Given the description of an element on the screen output the (x, y) to click on. 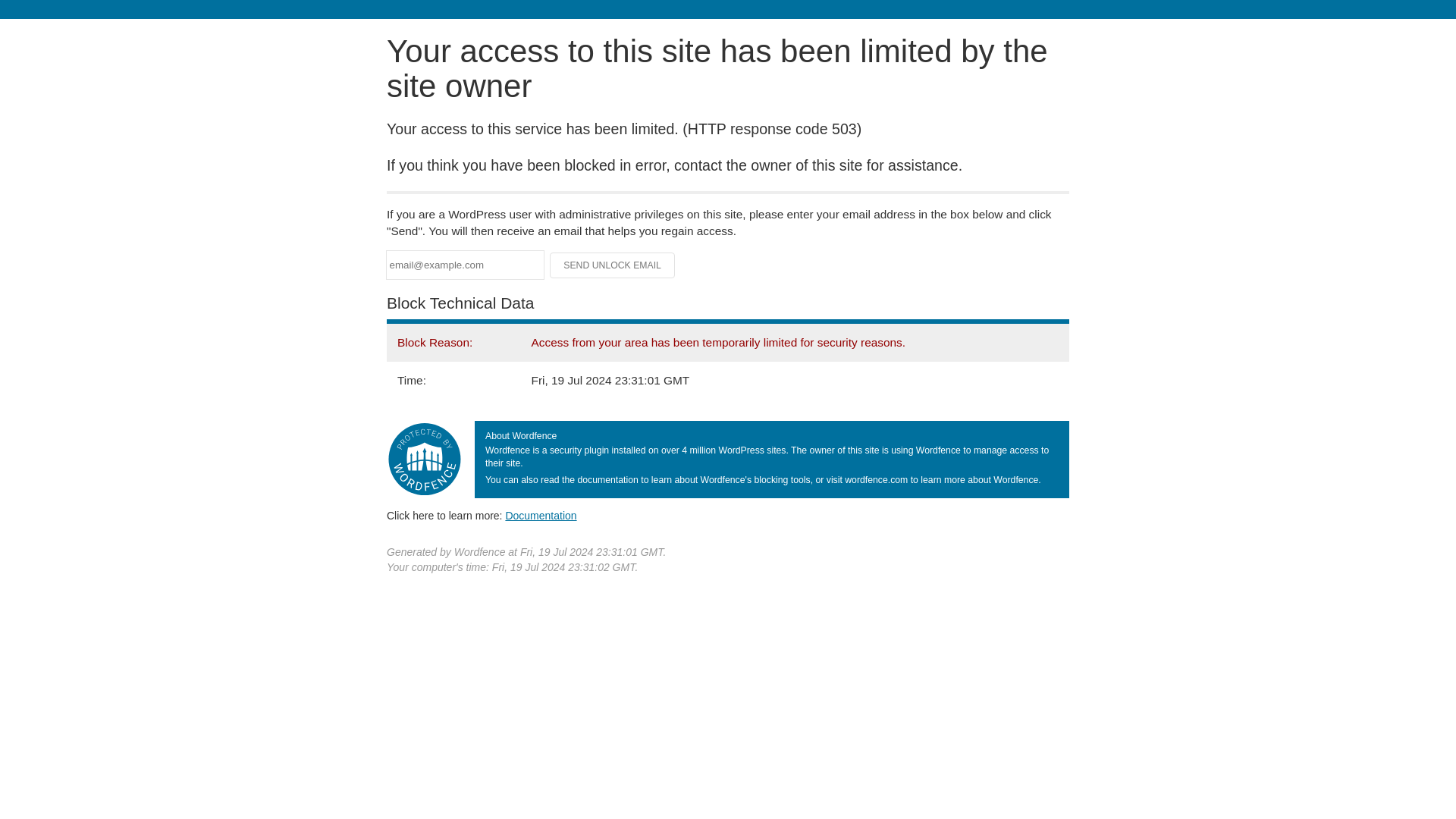
Send Unlock Email (612, 265)
Send Unlock Email (612, 265)
Documentation (540, 515)
